Given the description of an element on the screen output the (x, y) to click on. 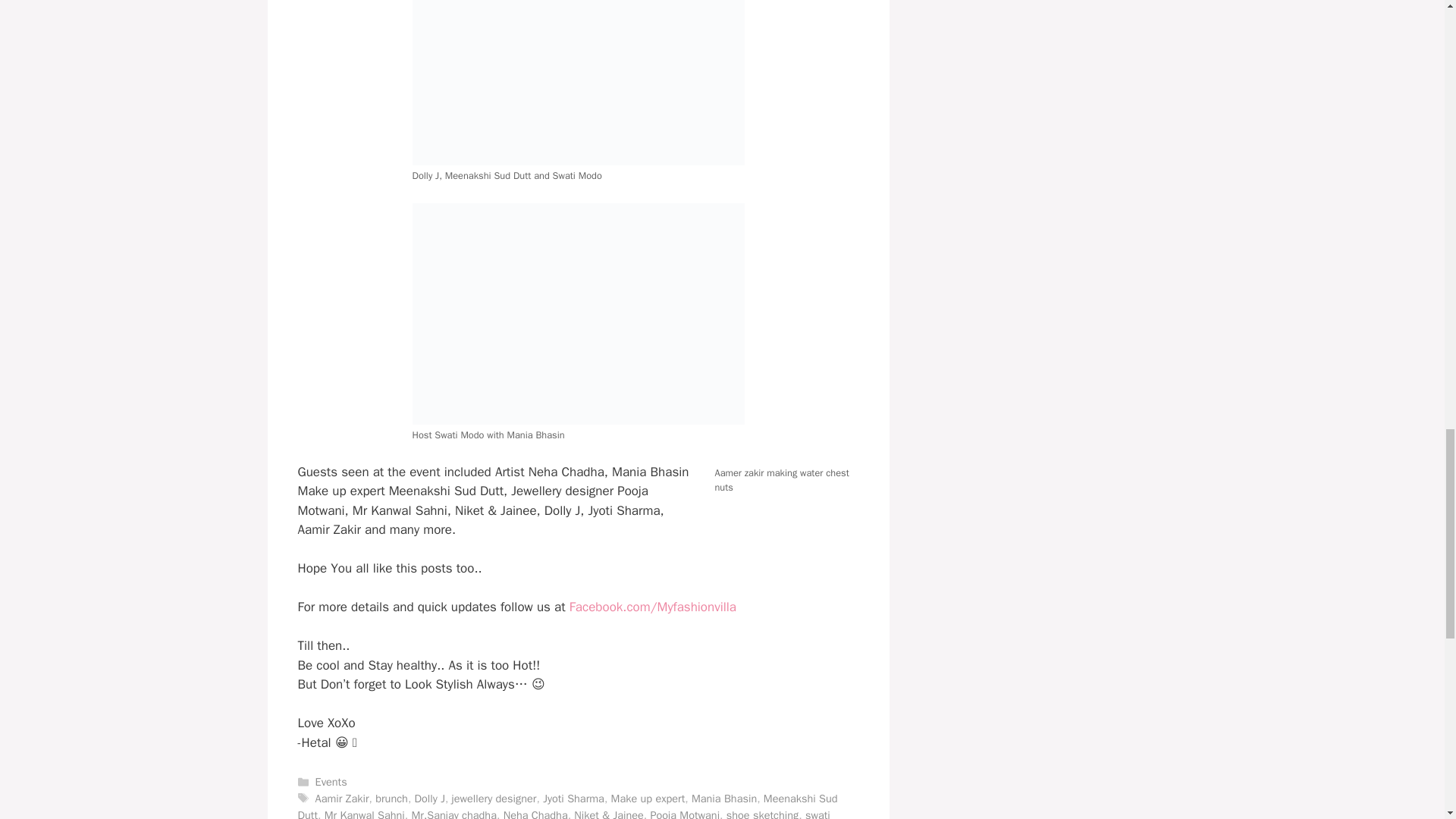
Meenakshi Sud Dutt (567, 805)
brunch (391, 798)
Dolly J, Meenakshi Sud Dutt and Swati Modo (578, 82)
Jyoti Sharma (573, 798)
Pooja Motwani (684, 813)
Neha Chadha (535, 813)
Host Swati Modo with Mania Bhasin (578, 314)
jewellery designer (494, 798)
Mr Kanwal Sahni (364, 813)
shoe sketching (761, 813)
